Given the description of an element on the screen output the (x, y) to click on. 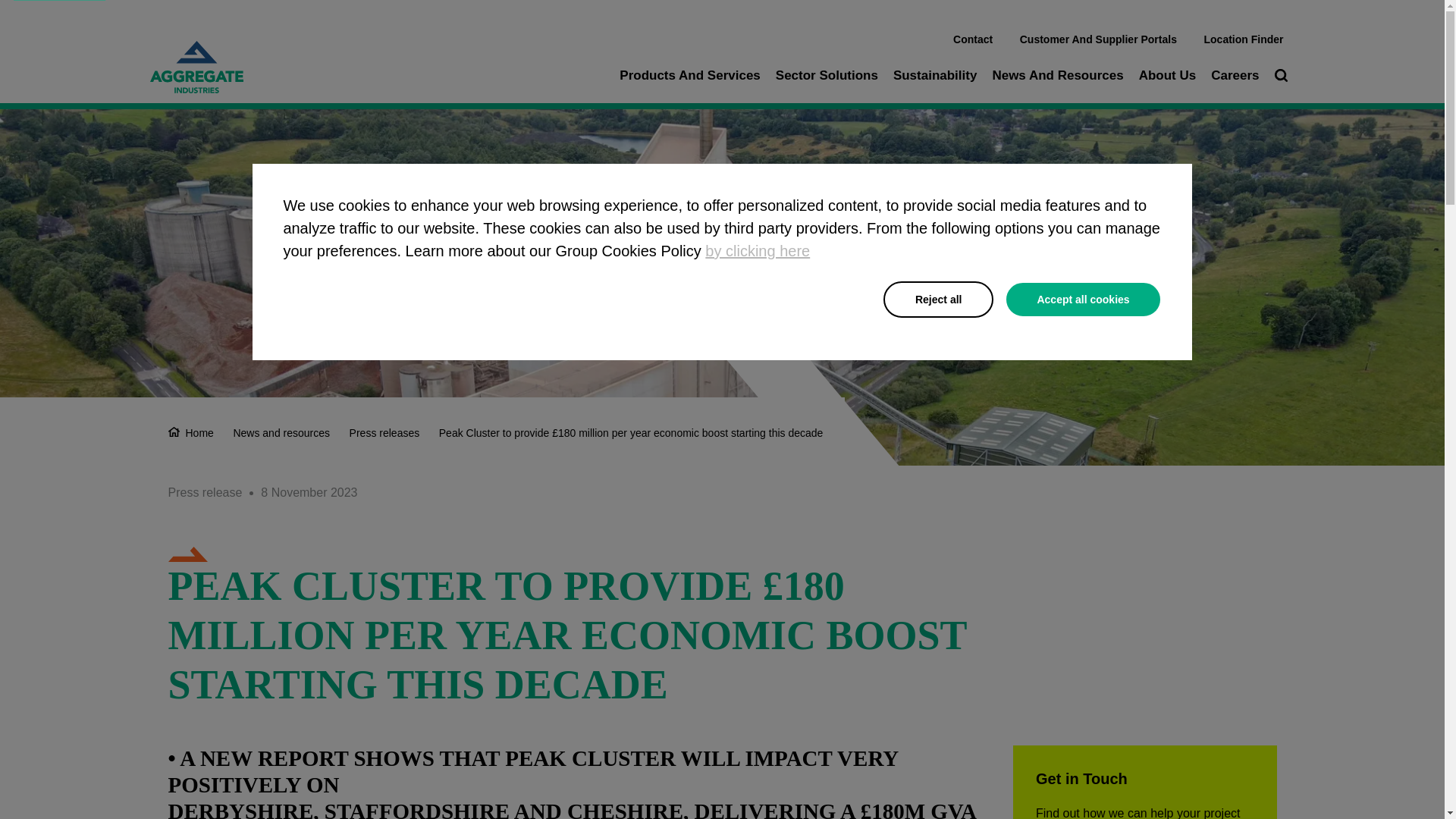
Location Finder (1243, 39)
Press releases (384, 432)
Careers (1235, 74)
Customer And Supplier Portals (1098, 39)
News And Resources (1056, 74)
Sustainability (934, 74)
News and resources (281, 432)
Sector Solutions (826, 74)
Products And Services (690, 74)
Contact (973, 39)
